Given the description of an element on the screen output the (x, y) to click on. 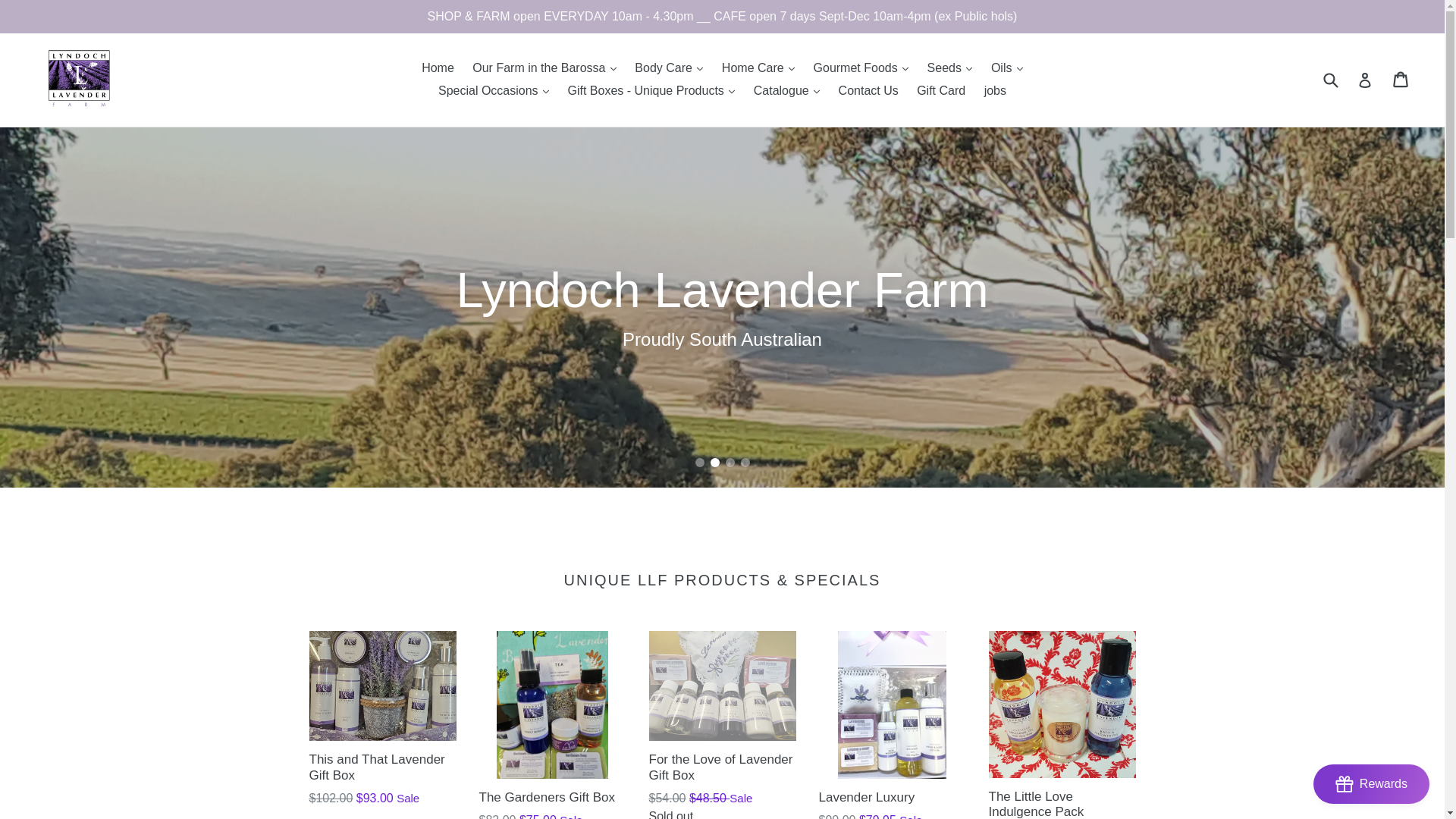
Submit Element type: text (1329, 79)
Slide 4 Element type: text (744, 462)
Slide 1 Element type: text (698, 462)
Cart
Cart Element type: text (1401, 79)
Gift Card Element type: text (940, 90)
Home Element type: text (437, 67)
Lyndoch Lavender Farm
Proudly South Australian Element type: text (722, 307)
Slide 2 Element type: text (713, 462)
Slide 3 Element type: text (729, 462)
jobs Element type: text (994, 90)
Contact Us Element type: text (868, 90)
Log in Element type: text (1364, 79)
Rewards Element type: text (1371, 783)
